Given the description of an element on the screen output the (x, y) to click on. 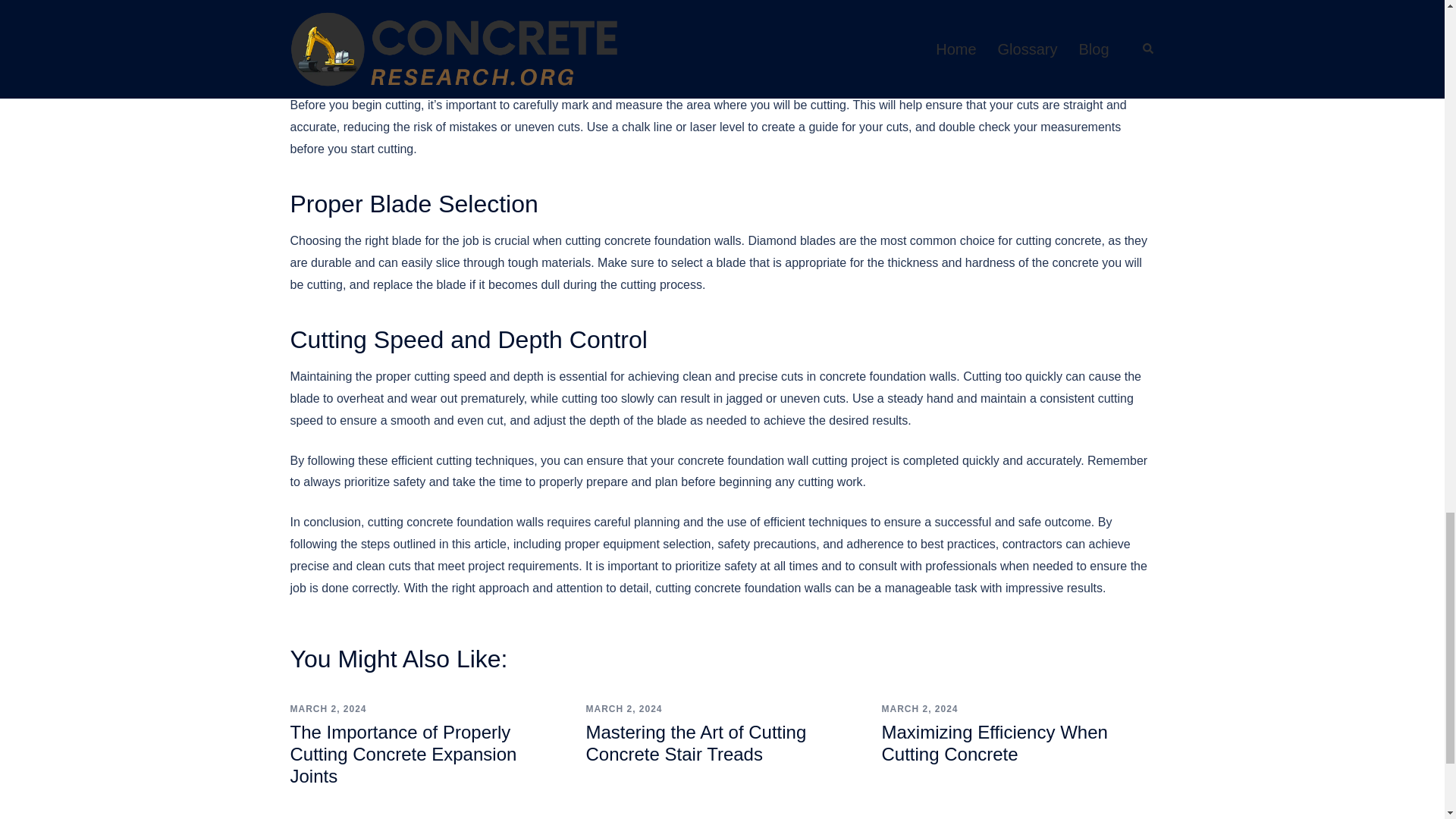
The Importance of Properly Cutting Concrete Expansion Joints (402, 753)
MARCH 2, 2024 (327, 708)
MARCH 2, 2024 (623, 708)
MARCH 2, 2024 (919, 708)
Mastering the Art of Cutting Concrete Stair Treads (695, 742)
Maximizing Efficiency When Cutting Concrete (993, 742)
